Given the description of an element on the screen output the (x, y) to click on. 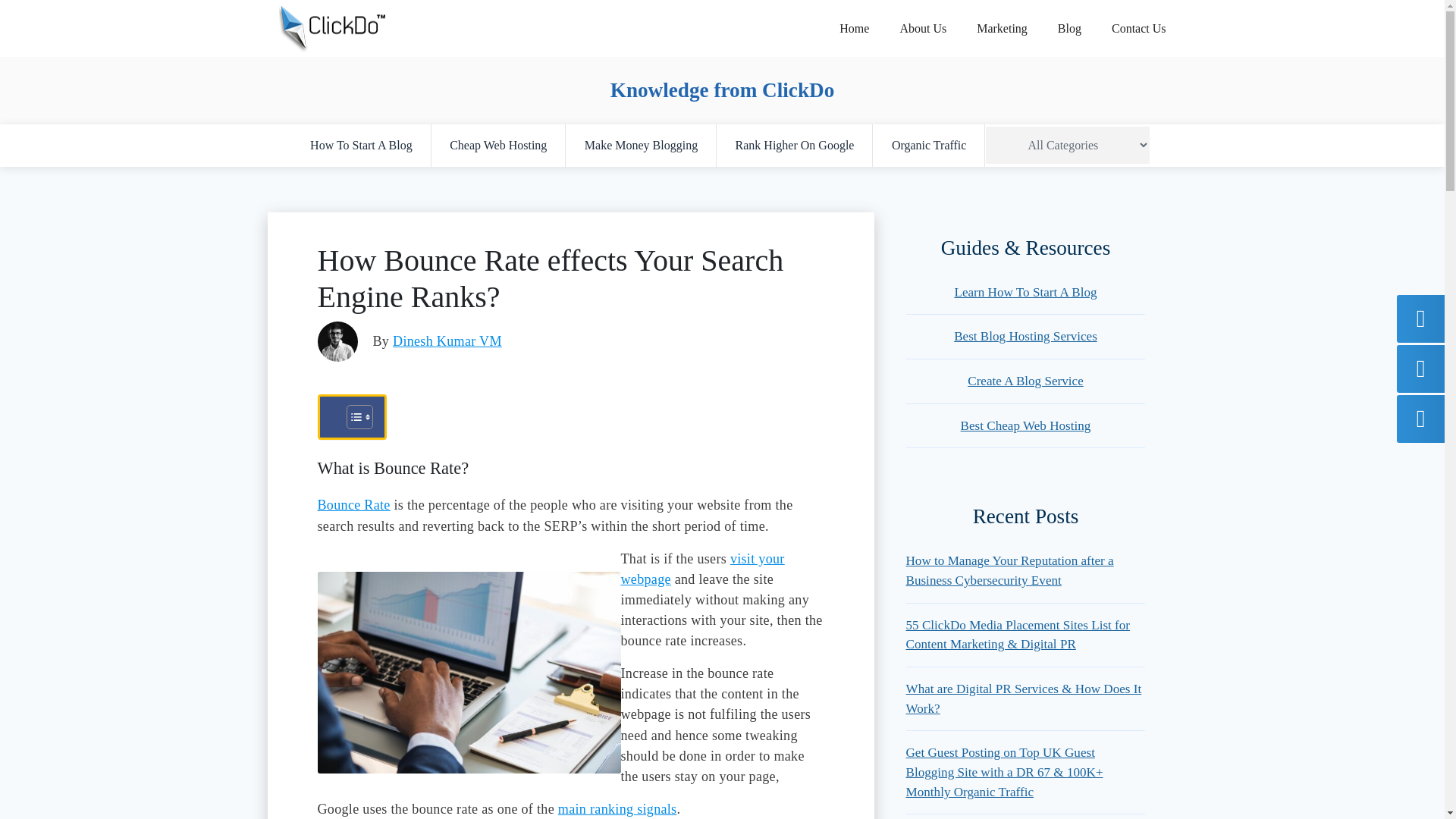
Blog (1069, 28)
Posts by Dinesh Kumar VM (447, 340)
About Us (921, 28)
Marketing (1001, 28)
Home (853, 28)
